Given the description of an element on the screen output the (x, y) to click on. 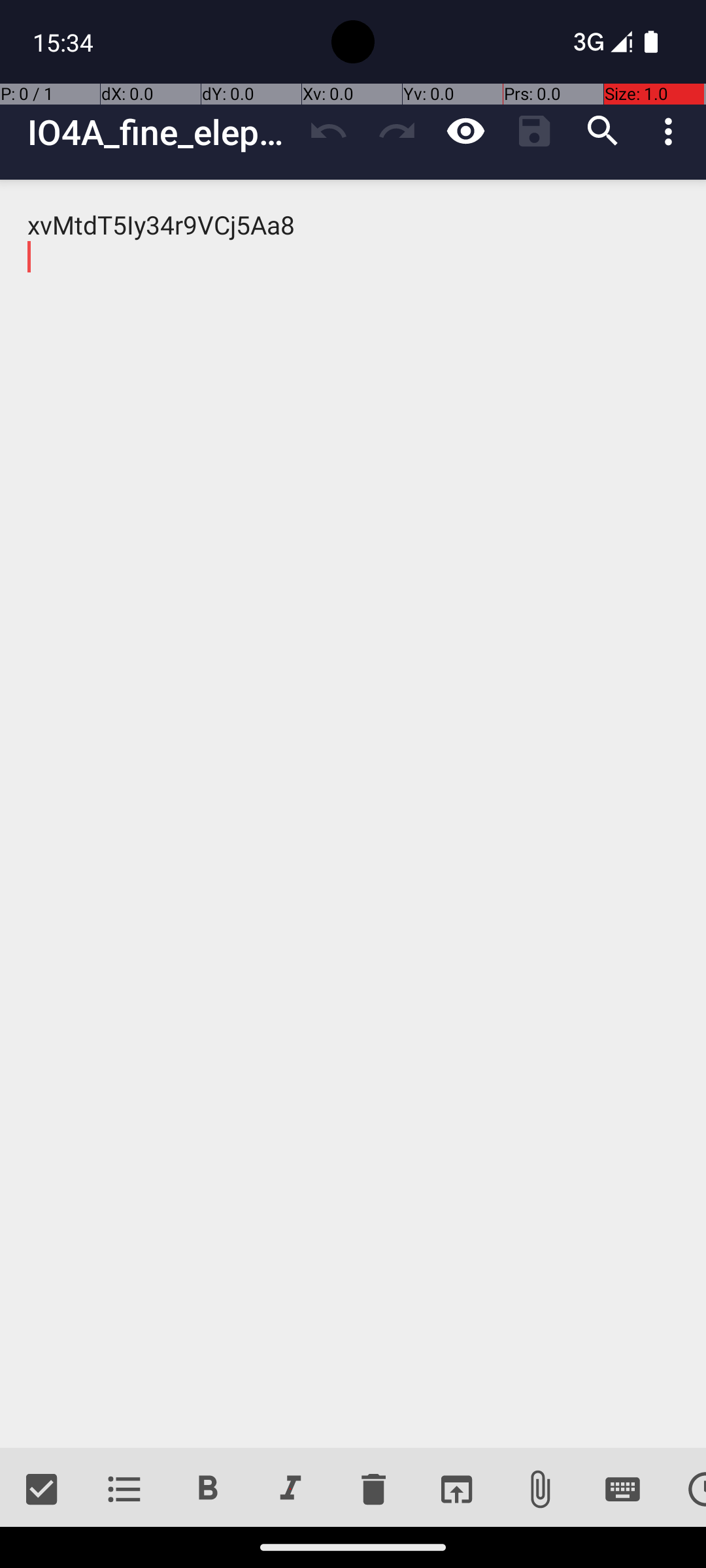
IO4A_fine_elephant Element type: android.widget.TextView (160, 131)
xvMtdT5Iy34r9VCj5Aa8
 Element type: android.widget.EditText (353, 813)
